Given the description of an element on the screen output the (x, y) to click on. 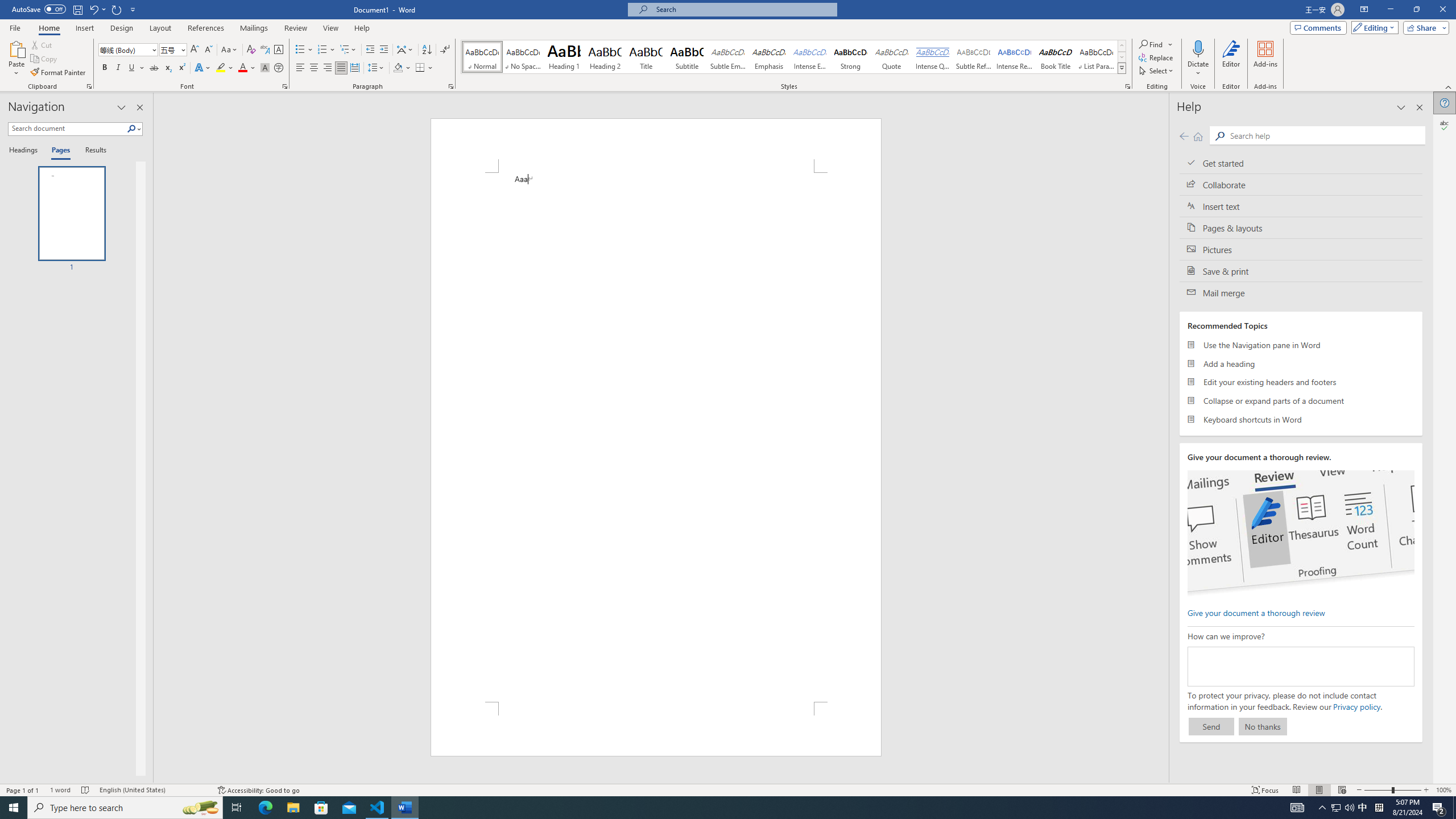
Heading 2 (605, 56)
Replace... (1156, 56)
Customize Quick Access Toolbar (133, 9)
Results (91, 150)
File Tab (15, 27)
Row Down (1121, 56)
Grow Font (193, 49)
Office Clipboard... (88, 85)
Close pane (139, 107)
Spelling and Grammar Check No Errors (85, 790)
Bold (104, 67)
Page 1 content (655, 436)
Mailings (253, 28)
